Given the description of an element on the screen output the (x, y) to click on. 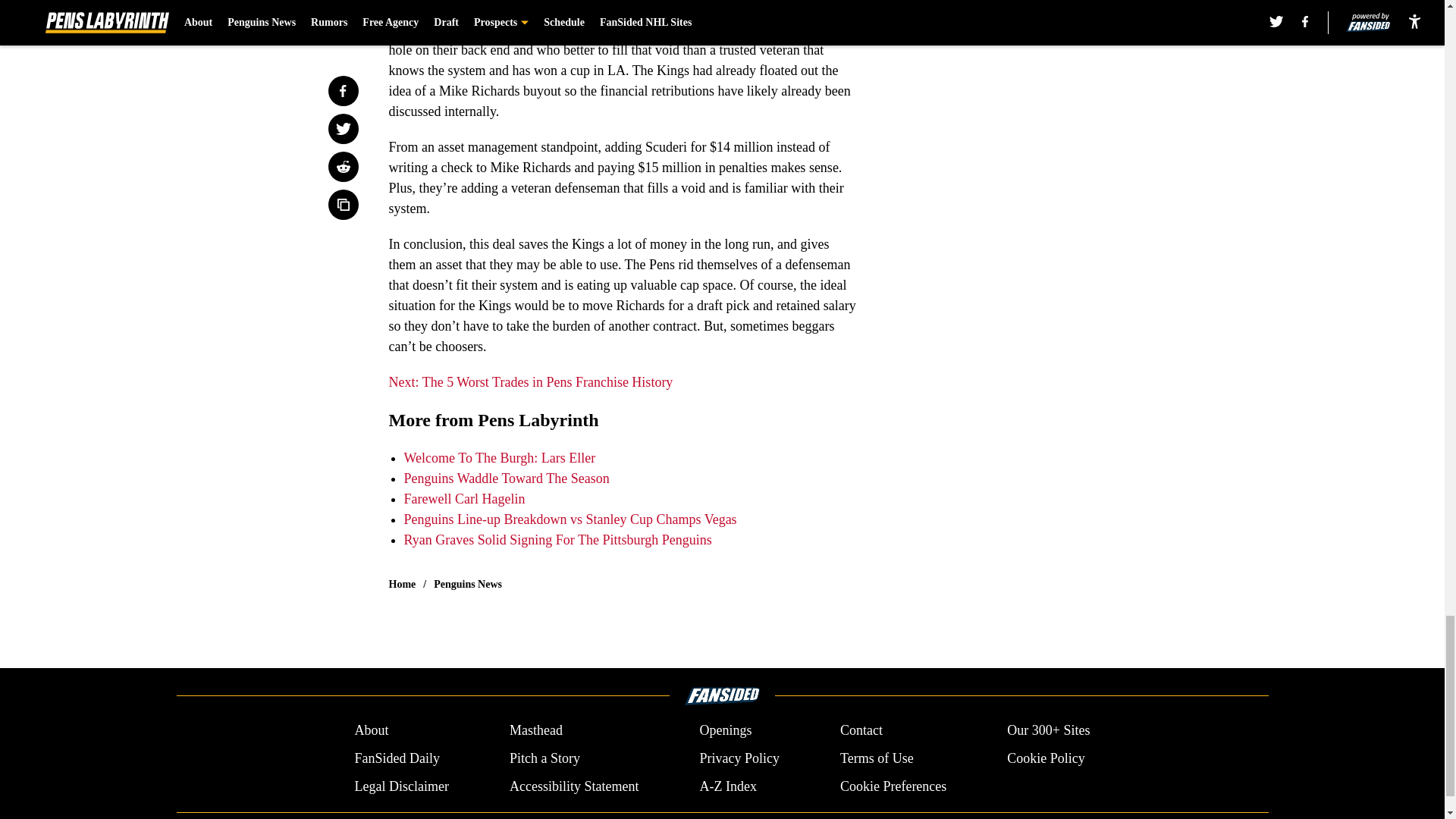
Next: The 5 Worst Trades in Pens Franchise History (530, 381)
Welcome To The Burgh: Lars Eller (499, 458)
Farewell Carl Hagelin (463, 498)
Penguins Waddle Toward The Season (505, 478)
Andrej Sekera (631, 8)
